Given the description of an element on the screen output the (x, y) to click on. 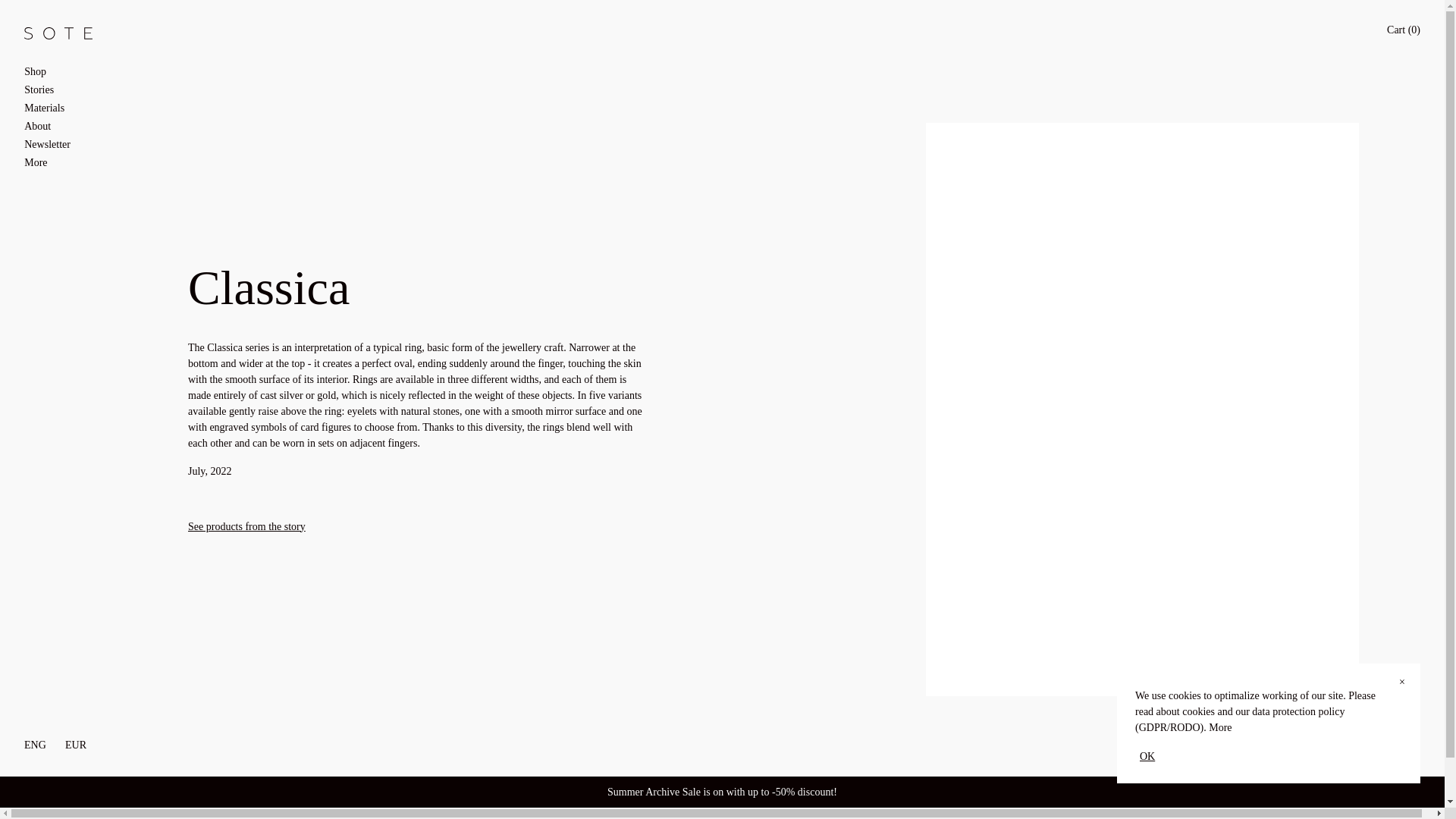
Newsletter (67, 144)
See products from the story (246, 526)
ENG (35, 744)
Stories (67, 89)
Shop (67, 71)
EUR (75, 744)
Materials (67, 107)
Sote (58, 31)
About (67, 126)
